Given the description of an element on the screen output the (x, y) to click on. 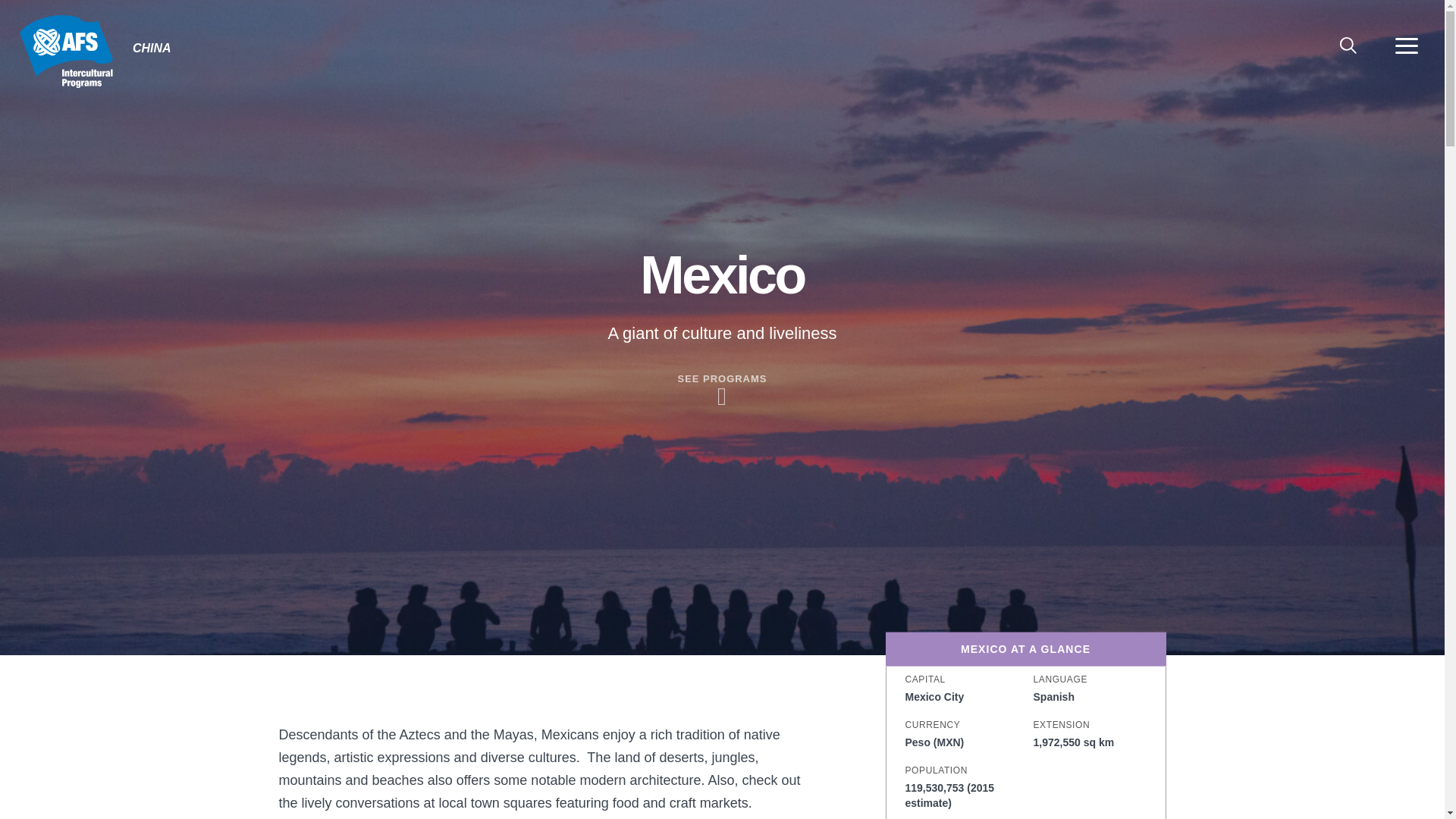
SEE PROGRAMS (722, 391)
MORE (1406, 45)
SEARCH (1347, 45)
SEE PROGRAMS (722, 391)
CHINA (65, 51)
